Given the description of an element on the screen output the (x, y) to click on. 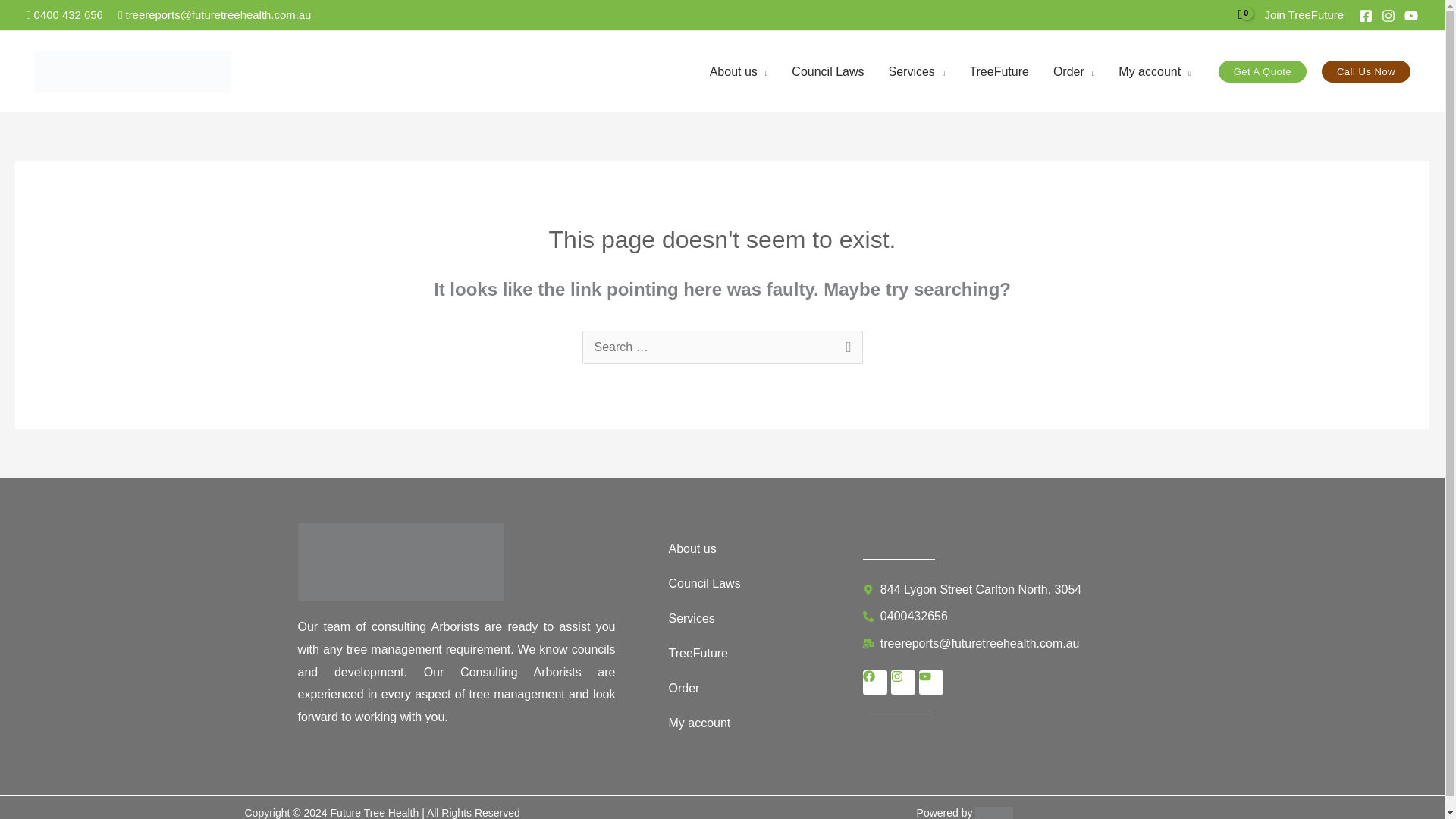
My account (1154, 71)
Council Laws (827, 71)
Services (916, 71)
About us (738, 71)
Order (1073, 71)
TreeFuture (998, 71)
Join TreeFuture (1303, 14)
Get A Quote (1262, 71)
Call Us Now (1366, 71)
 0400 432 656 (64, 14)
